Given the description of an element on the screen output the (x, y) to click on. 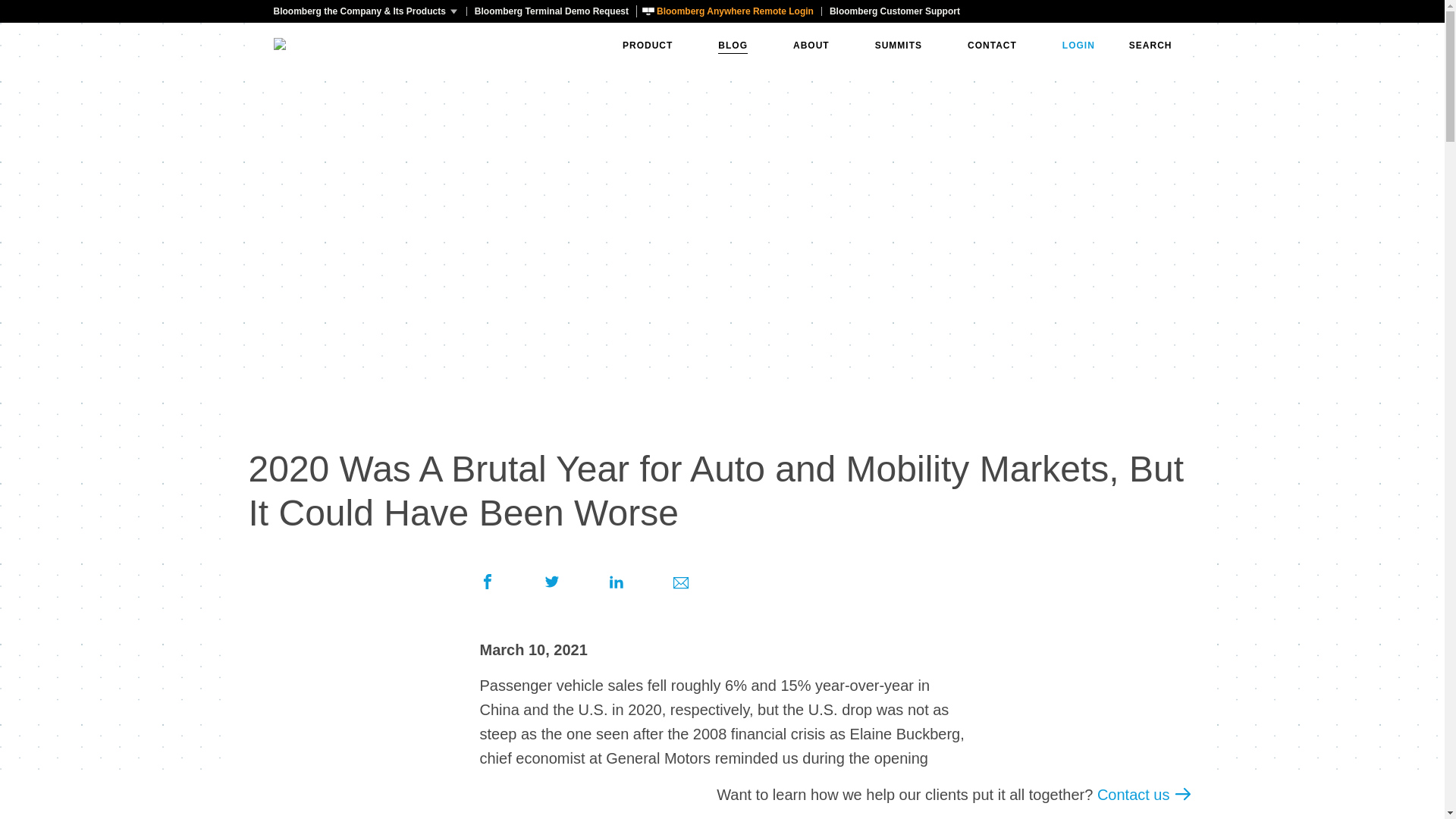
Bloomberg Anywhere Remote Login (728, 10)
Bloomberg Customer Support (894, 10)
Bloomberg Terminal Demo Request (550, 10)
